Given the description of an element on the screen output the (x, y) to click on. 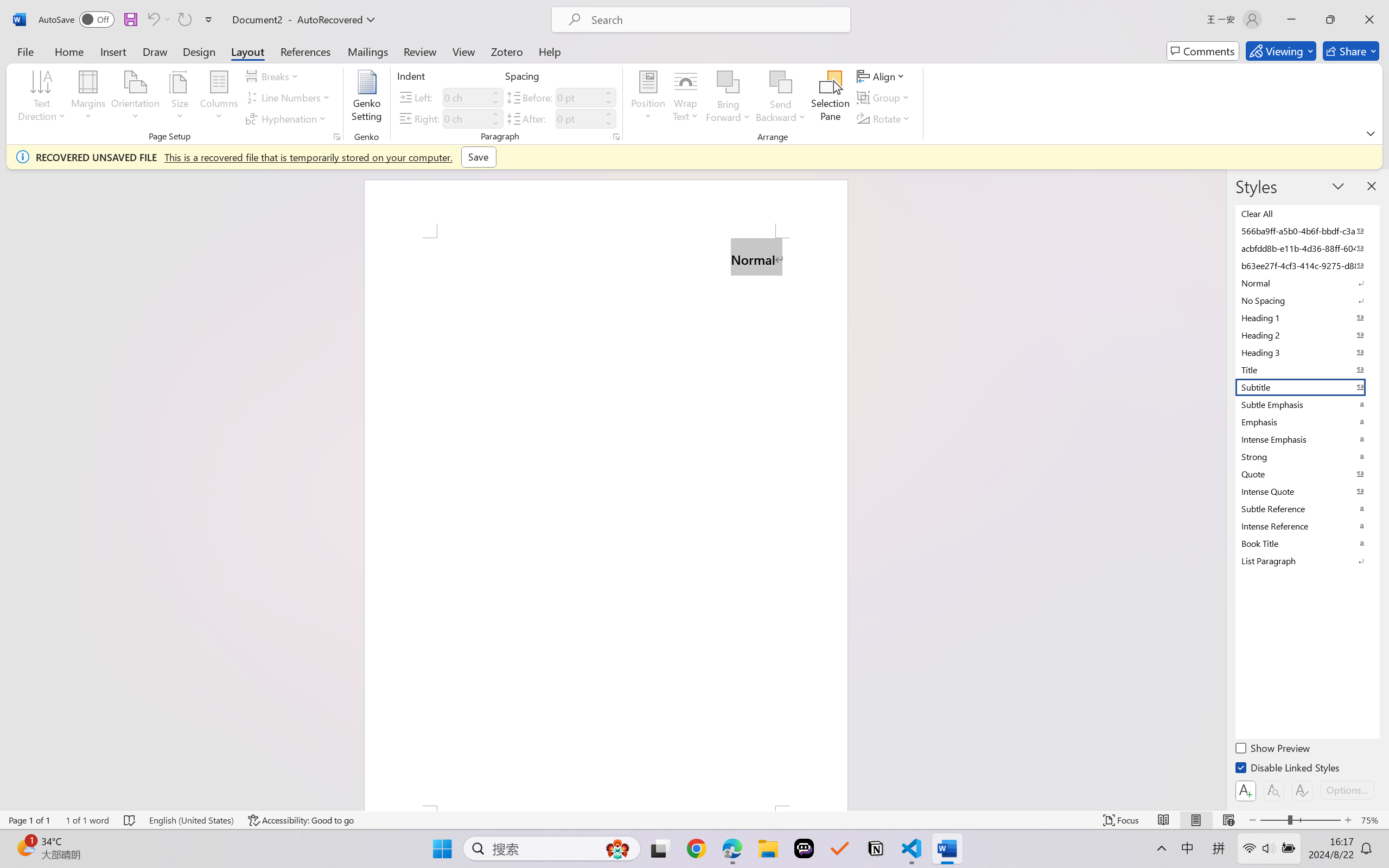
Breaks (273, 75)
Selection Pane... (830, 97)
List Paragraph (1306, 560)
Indent Left (465, 96)
Strong (1306, 456)
Paragraph... (615, 136)
Subtle Reference (1306, 508)
Text Direction (42, 97)
Heading 1 (1306, 317)
